Given the description of an element on the screen output the (x, y) to click on. 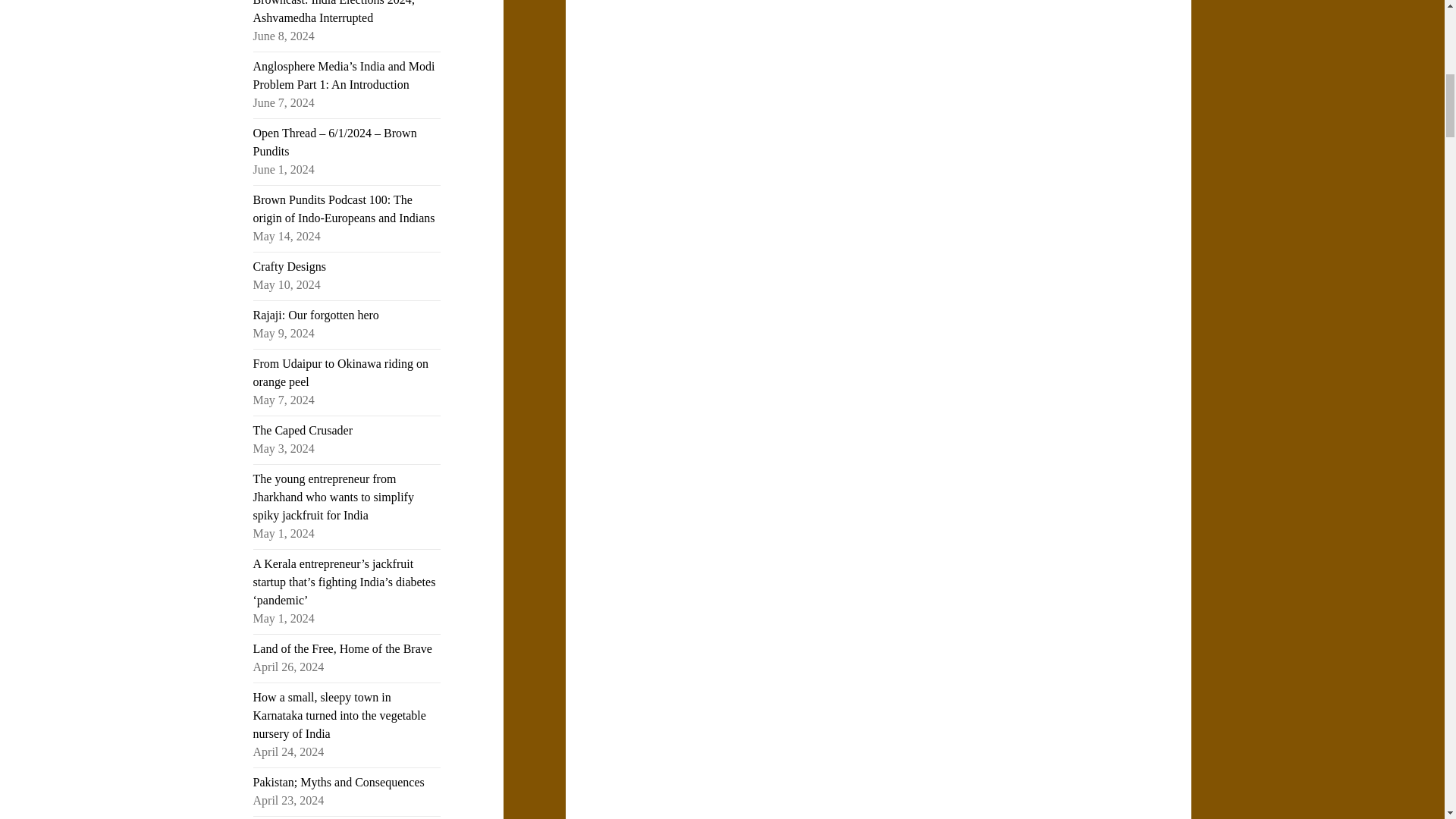
Rajaji: Our forgotten hero (315, 314)
Crafty Designs (289, 266)
From Udaipur to Okinawa riding on orange peel (341, 372)
Land of the Free, Home of the Brave (342, 648)
Browncast: India Elections 2024; Ashvamedha Interrupted (333, 12)
The Caped Crusader (303, 430)
Pakistan; Myths and Consequences (339, 781)
